Given the description of an element on the screen output the (x, y) to click on. 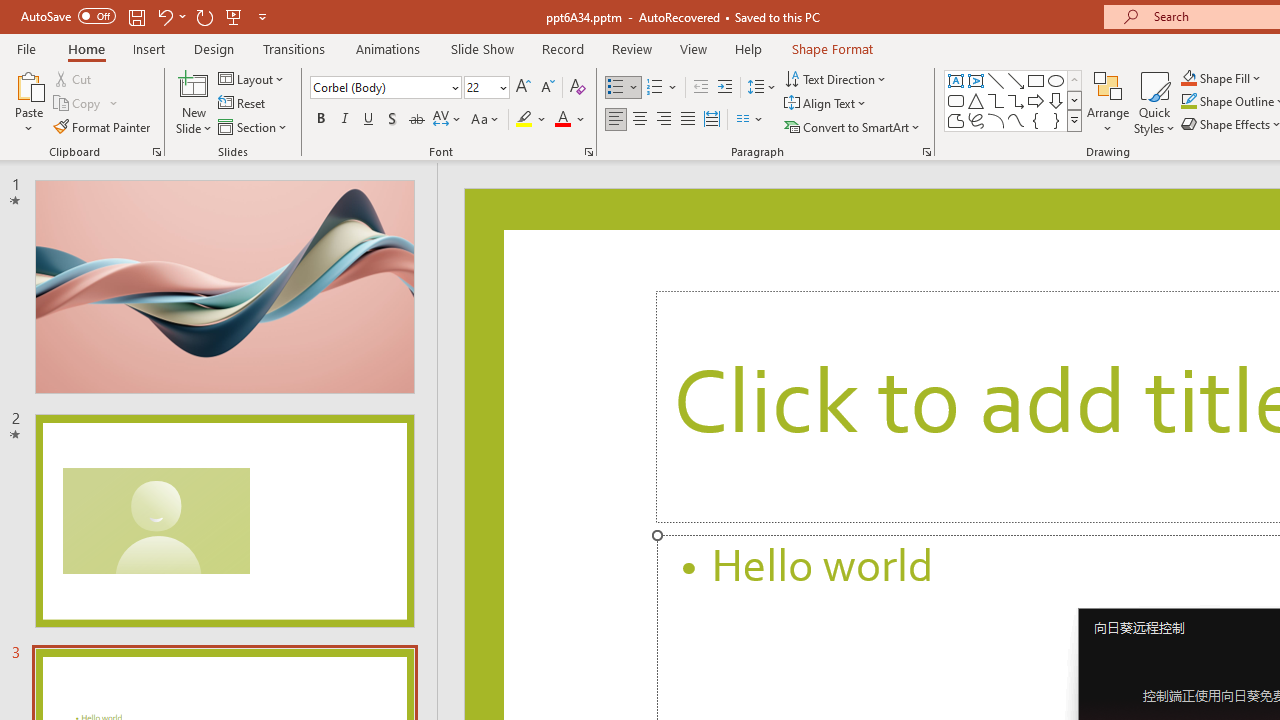
Shape Fill Red, Accent 2 (1188, 78)
